Given the description of an element on the screen output the (x, y) to click on. 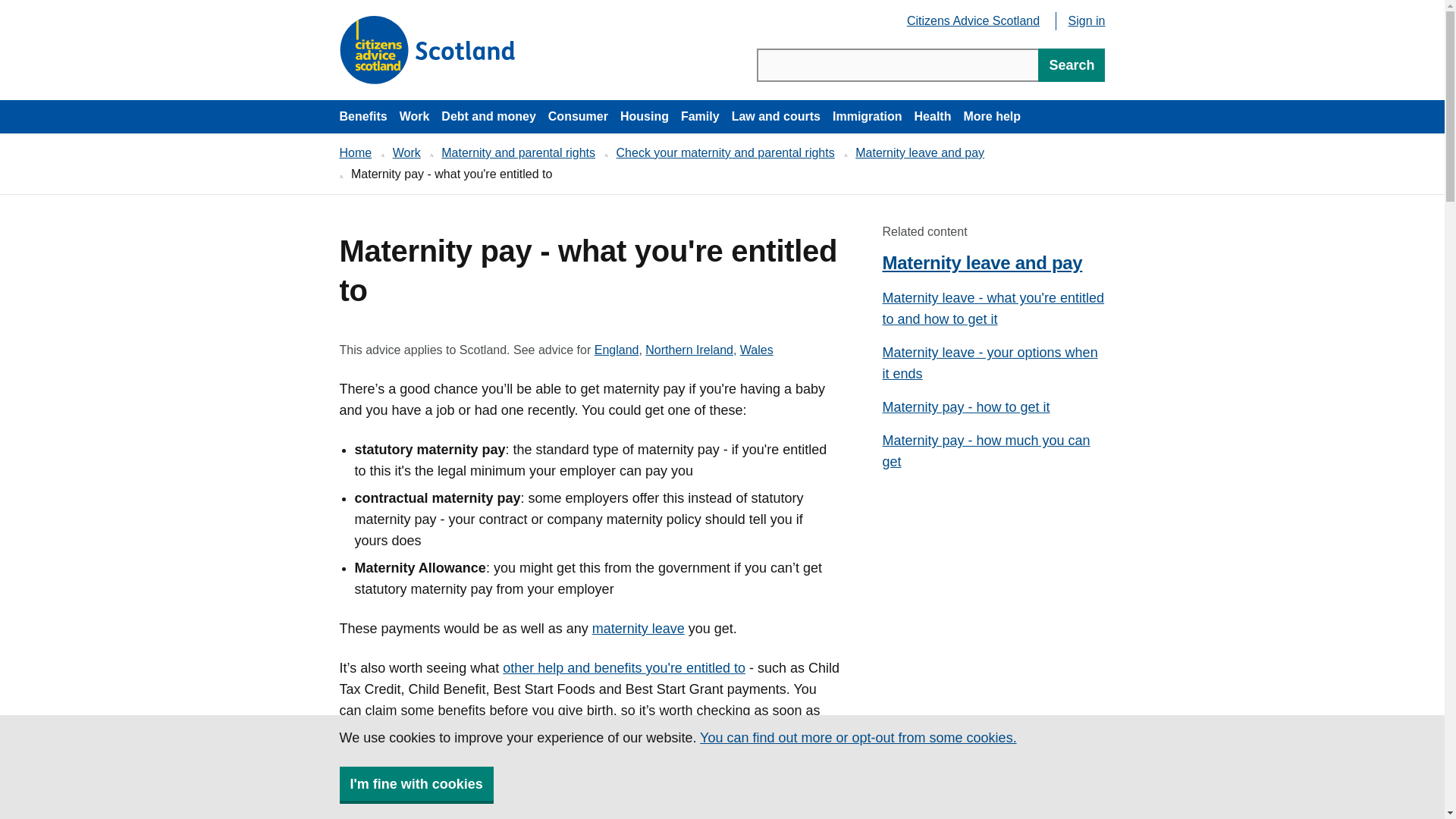
other help and benefits you're entitled to (623, 667)
Home (355, 152)
Consumer (577, 116)
More help (991, 116)
Housing (756, 350)
Maternity and parental rights (644, 116)
Citizens Advice Scotland (518, 152)
Immigration (973, 21)
Skip to navigation (867, 116)
